Given the description of an element on the screen output the (x, y) to click on. 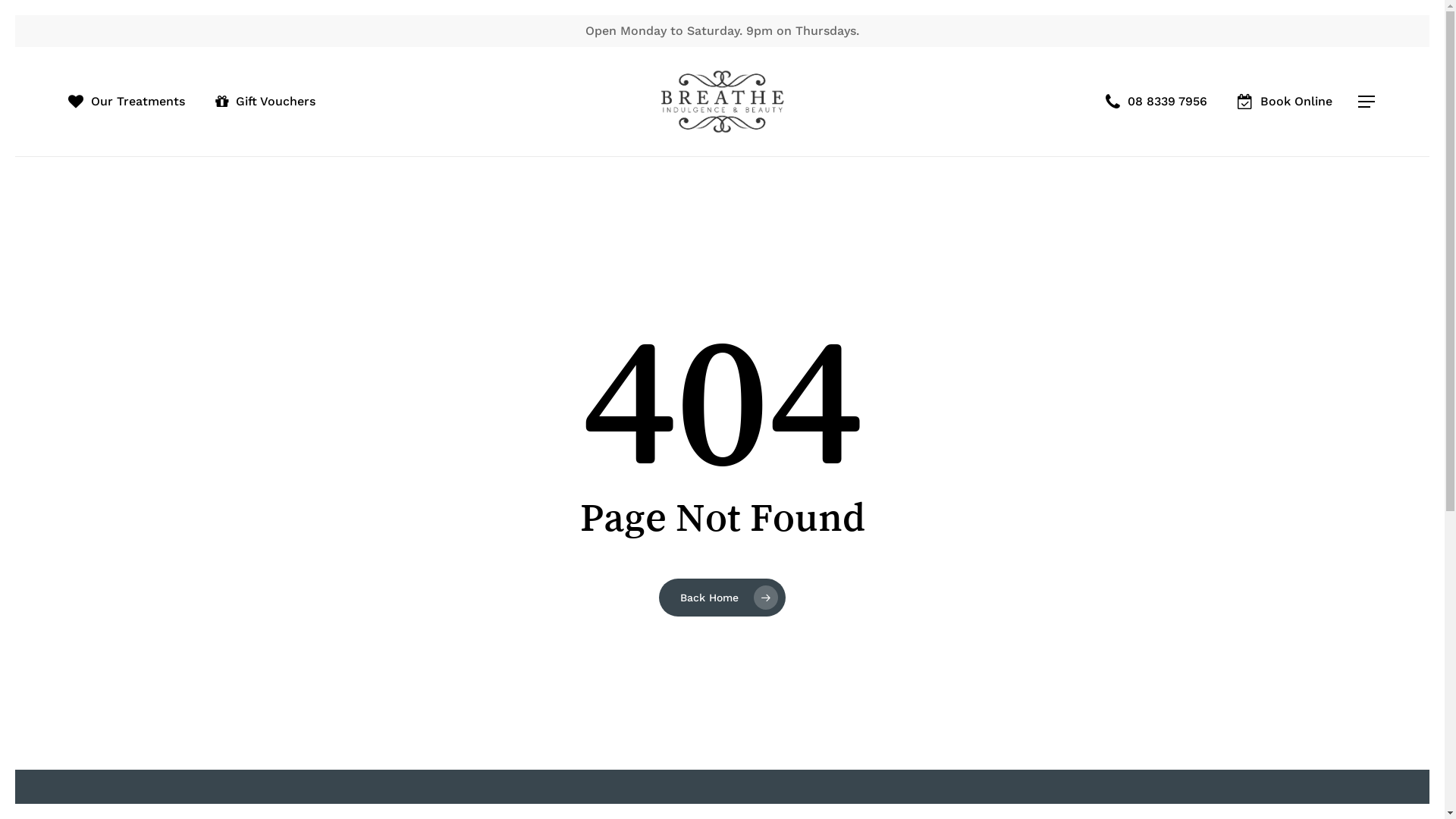
Menu Element type: text (1367, 101)
08 8339 7956 Element type: text (1156, 101)
Book Online Element type: text (1284, 101)
Gift Vouchers Element type: text (265, 101)
Back Home Element type: text (721, 596)
Our Treatments Element type: text (126, 101)
